Given the description of an element on the screen output the (x, y) to click on. 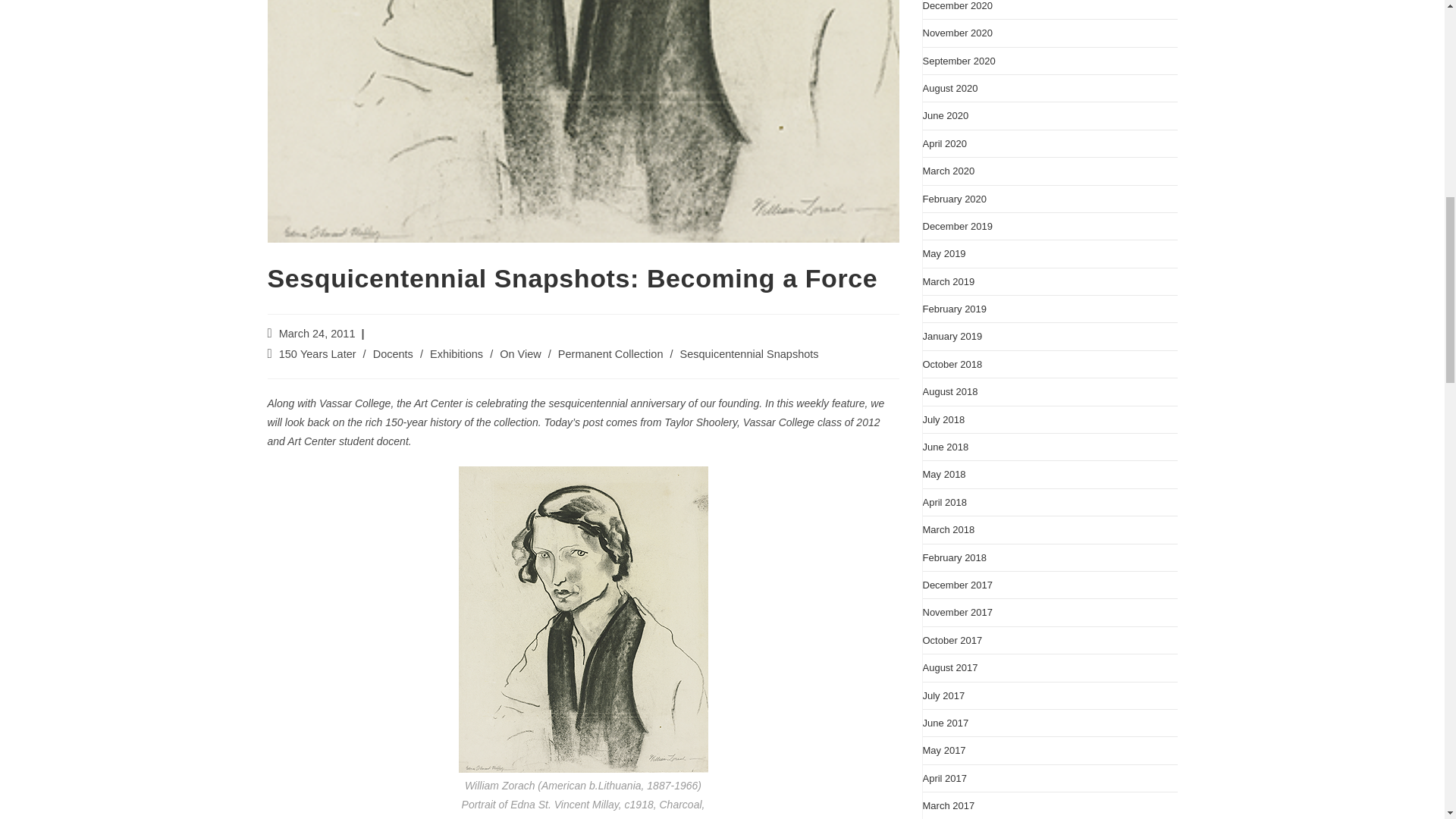
Sesquicentennial Snapshots (748, 354)
Docents (392, 354)
150 Years Later (317, 354)
Permanent Collection (610, 354)
On View (520, 354)
Exhibitions (456, 354)
